Given the description of an element on the screen output the (x, y) to click on. 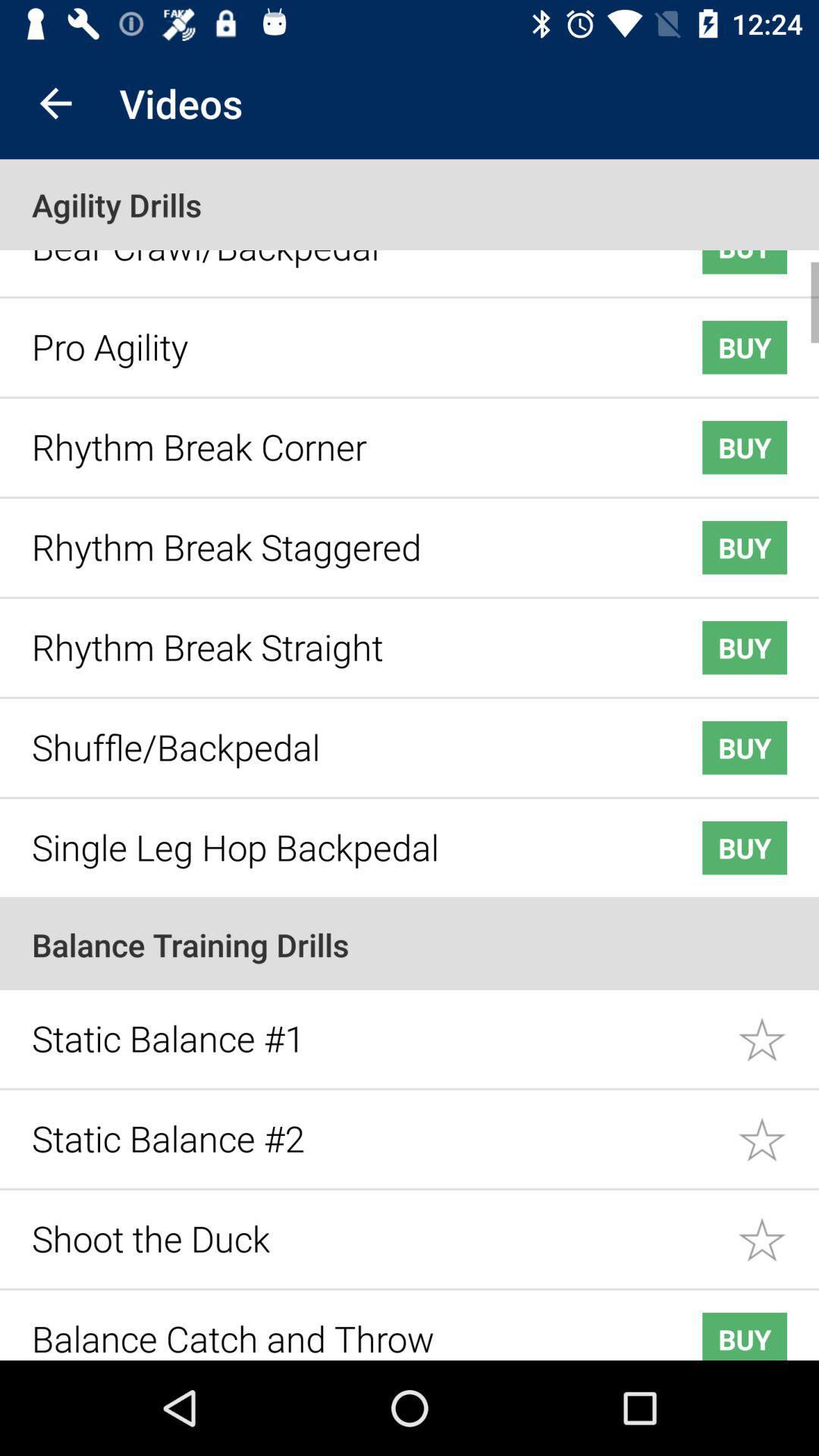
choose icon next to buy (342, 335)
